Given the description of an element on the screen output the (x, y) to click on. 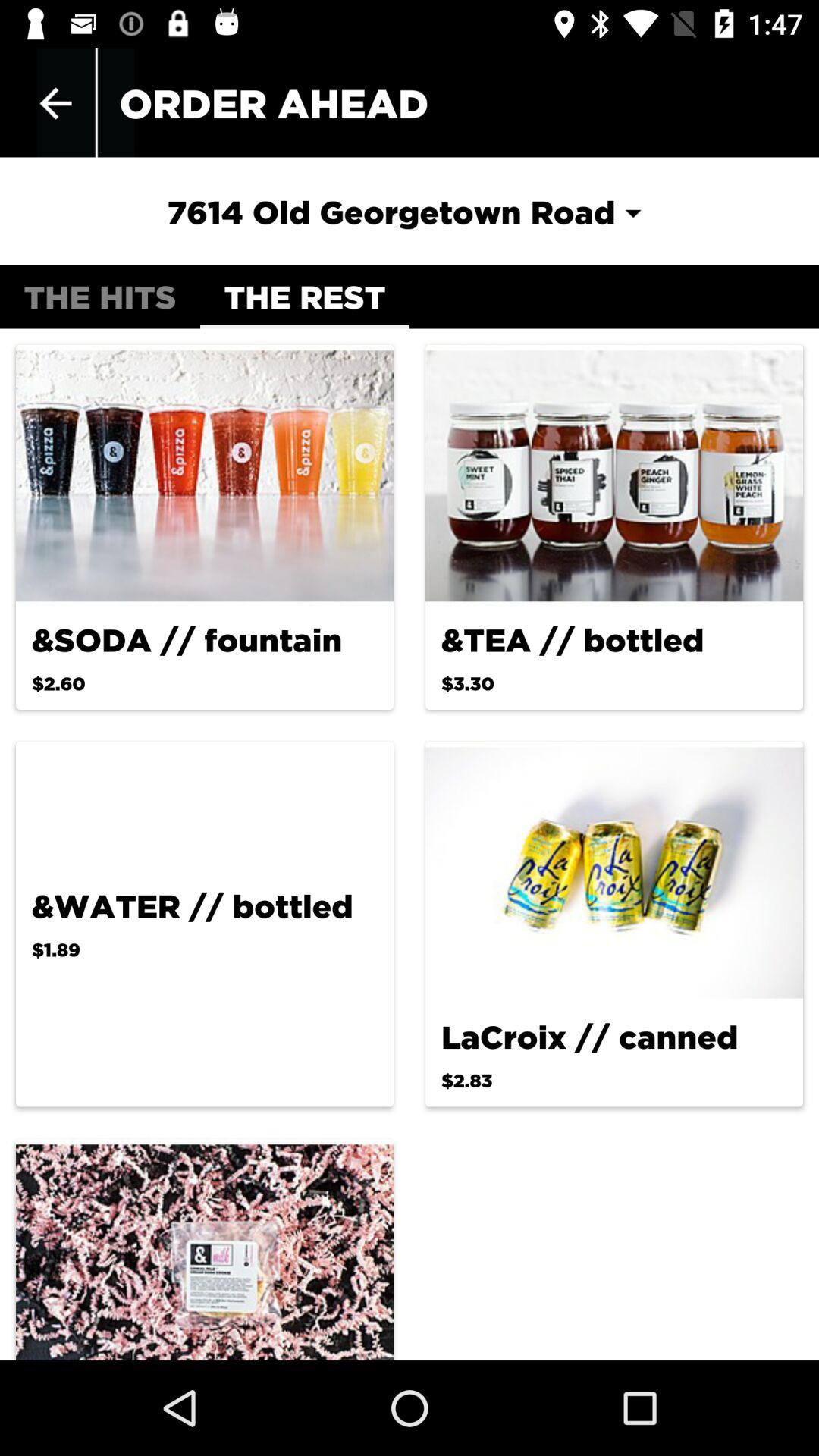
turn on app to the left of the order ahead app (55, 103)
